Given the description of an element on the screen output the (x, y) to click on. 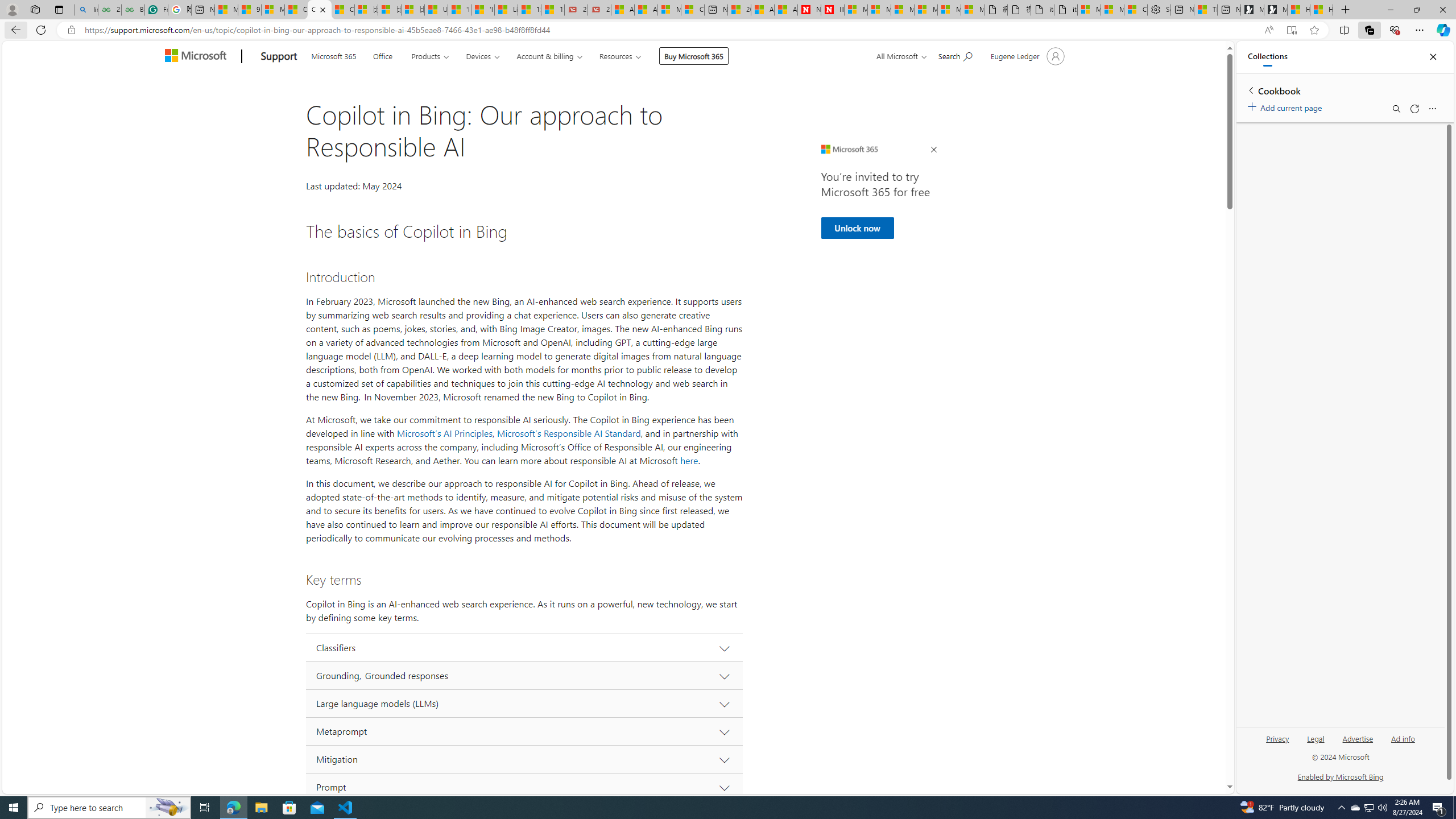
Search for help (954, 54)
Support (278, 56)
Back to list of collections (1250, 90)
Unlock now (857, 228)
Ad info (1402, 738)
Copilot (Ctrl+Shift+.) (1442, 29)
20 Ways to Boost Your Protein Intake at Every Meal (738, 9)
